Given the description of an element on the screen output the (x, y) to click on. 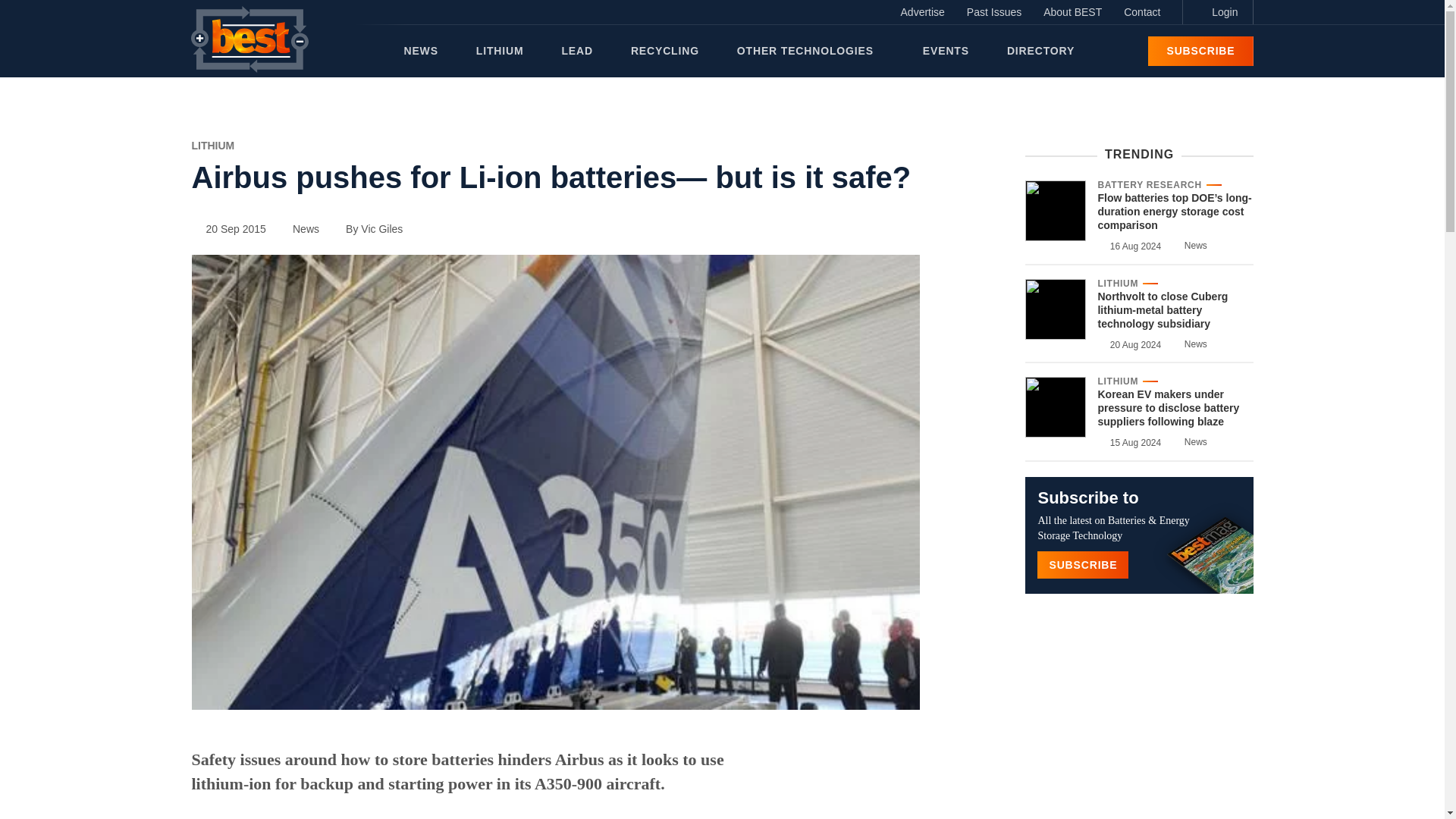
News (298, 228)
Advertise (922, 12)
OTHER TECHNOLOGIES (810, 50)
By Vic Giles (367, 228)
Contact (1141, 12)
NEWS (420, 50)
SUBSCRIBE (1200, 51)
RECYCLING (664, 50)
EVENTS (945, 50)
LITHIUM (212, 145)
